Given the description of an element on the screen output the (x, y) to click on. 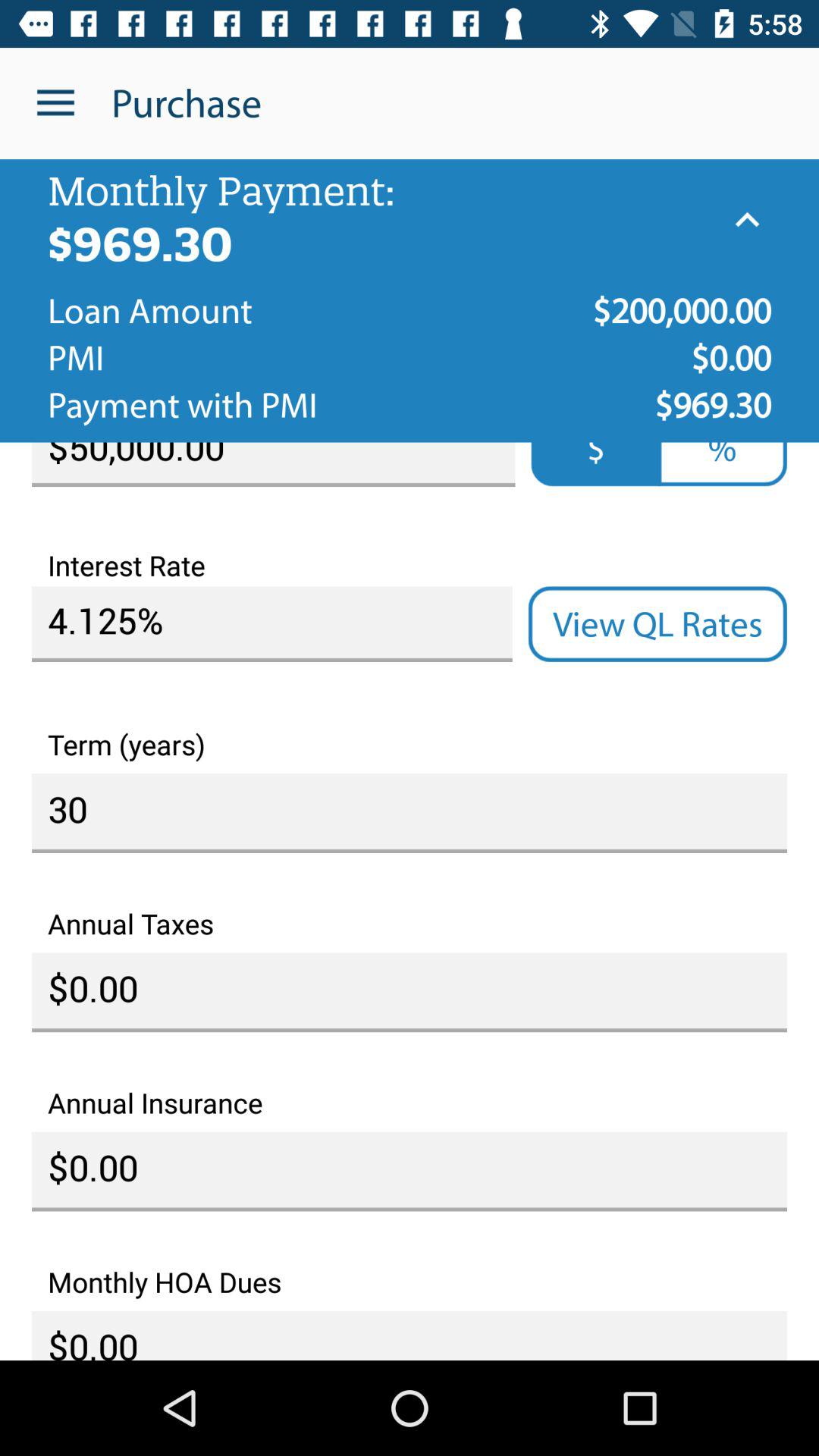
flip until % item (722, 464)
